Given the description of an element on the screen output the (x, y) to click on. 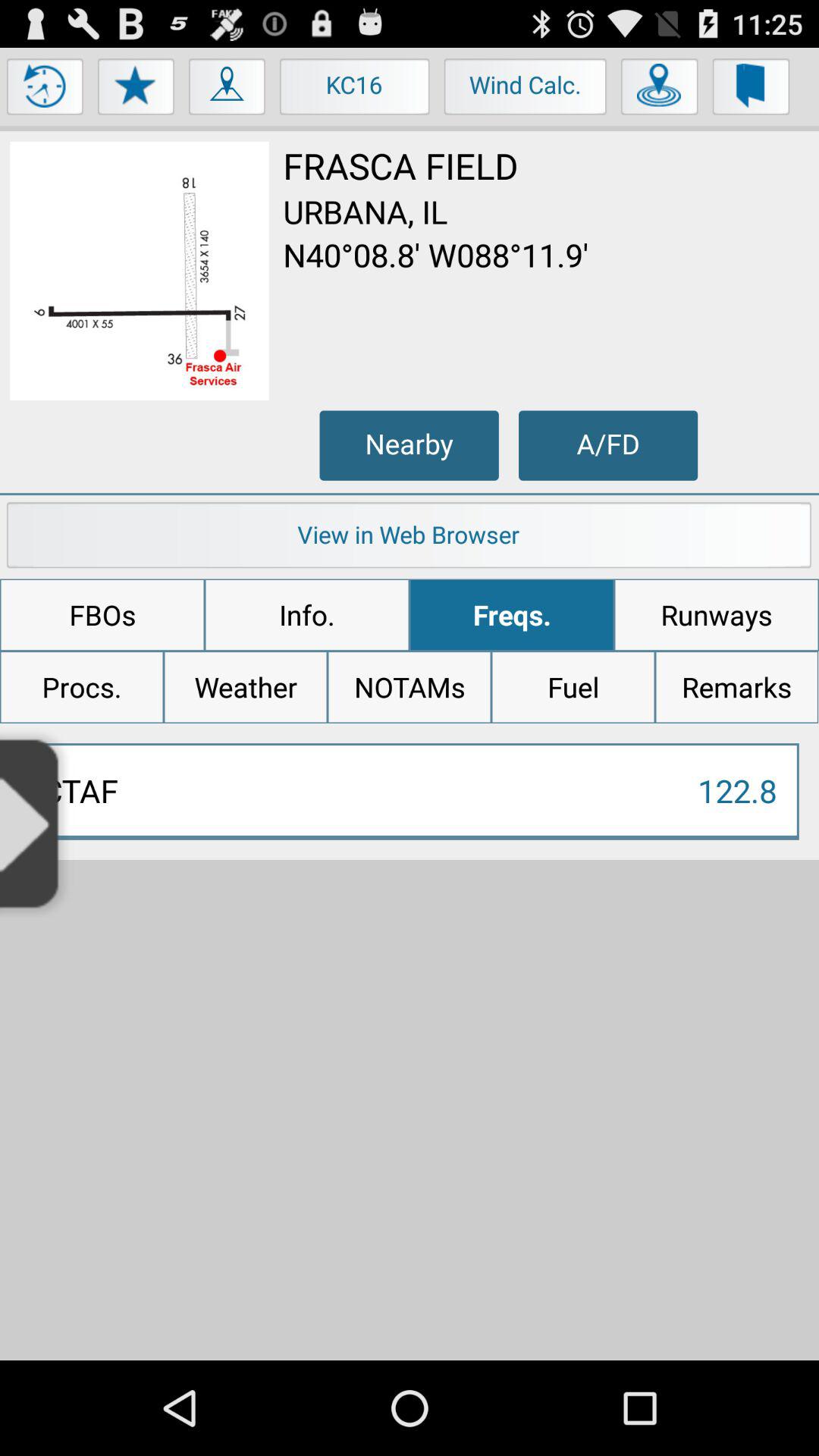
send a message (751, 90)
